Given the description of an element on the screen output the (x, y) to click on. 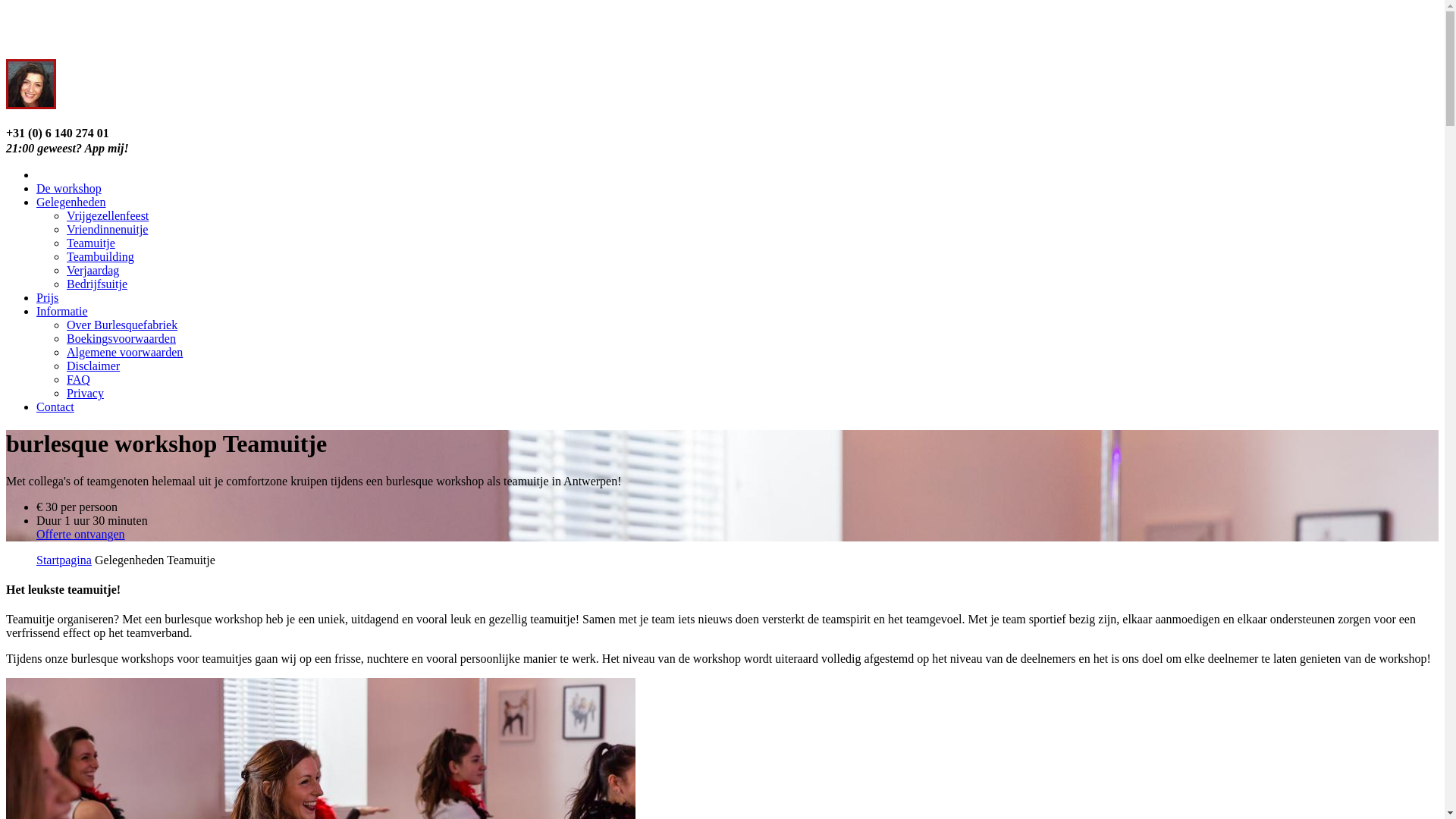
Offerte ontvangen Element type: text (80, 533)
Gelegenheden Element type: text (71, 201)
Boekingsvoorwaarden Element type: text (120, 338)
Teamuitje Element type: text (90, 242)
Algemene voorwaarden Element type: text (124, 351)
Startpagina Element type: text (63, 559)
Informatie Element type: text (61, 310)
Bedrijfsuitje Element type: text (96, 283)
Verjaardag Element type: text (92, 269)
Over Burlesquefabriek Element type: text (121, 324)
FAQ Element type: text (78, 379)
Teambuilding Element type: text (100, 256)
Vrijgezellenfeest Element type: text (107, 215)
Vriendinnenuitje Element type: text (106, 228)
Prijs Element type: text (47, 297)
Privacy Element type: text (84, 392)
Contact Element type: text (55, 406)
De workshop Element type: text (68, 188)
Disclaimer Element type: text (92, 365)
